Given the description of an element on the screen output the (x, y) to click on. 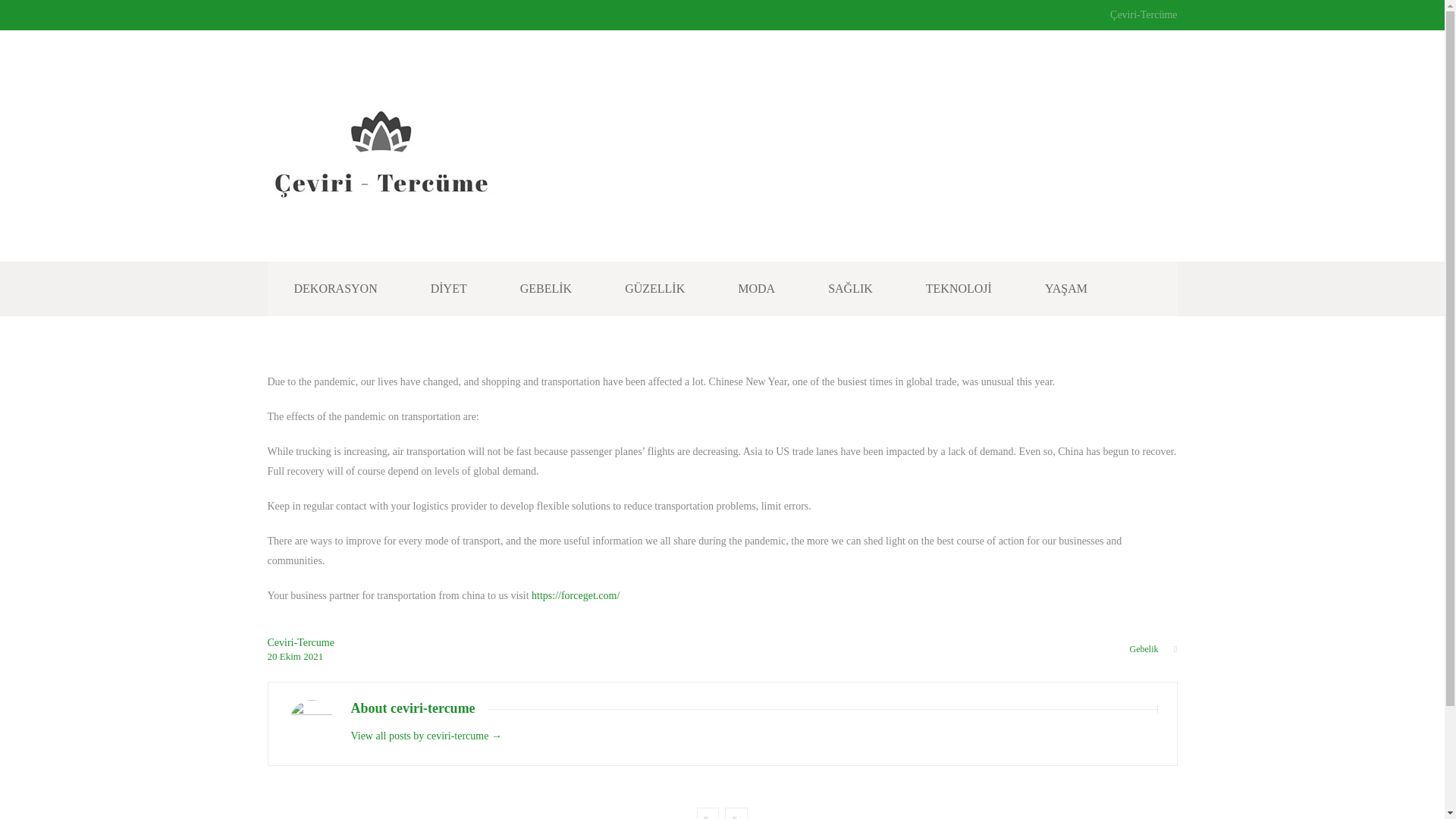
GEBELIK (545, 288)
MODA (756, 288)
Link to yearly archives: 2021 (312, 655)
DIYET (448, 288)
Link to monthly archives: Ekim (290, 655)
Link to daily archives: 20 Ekim 2021 (272, 655)
Ekim (290, 655)
Ceviri-Tercume (299, 642)
Gebelik (1143, 648)
